Given the description of an element on the screen output the (x, y) to click on. 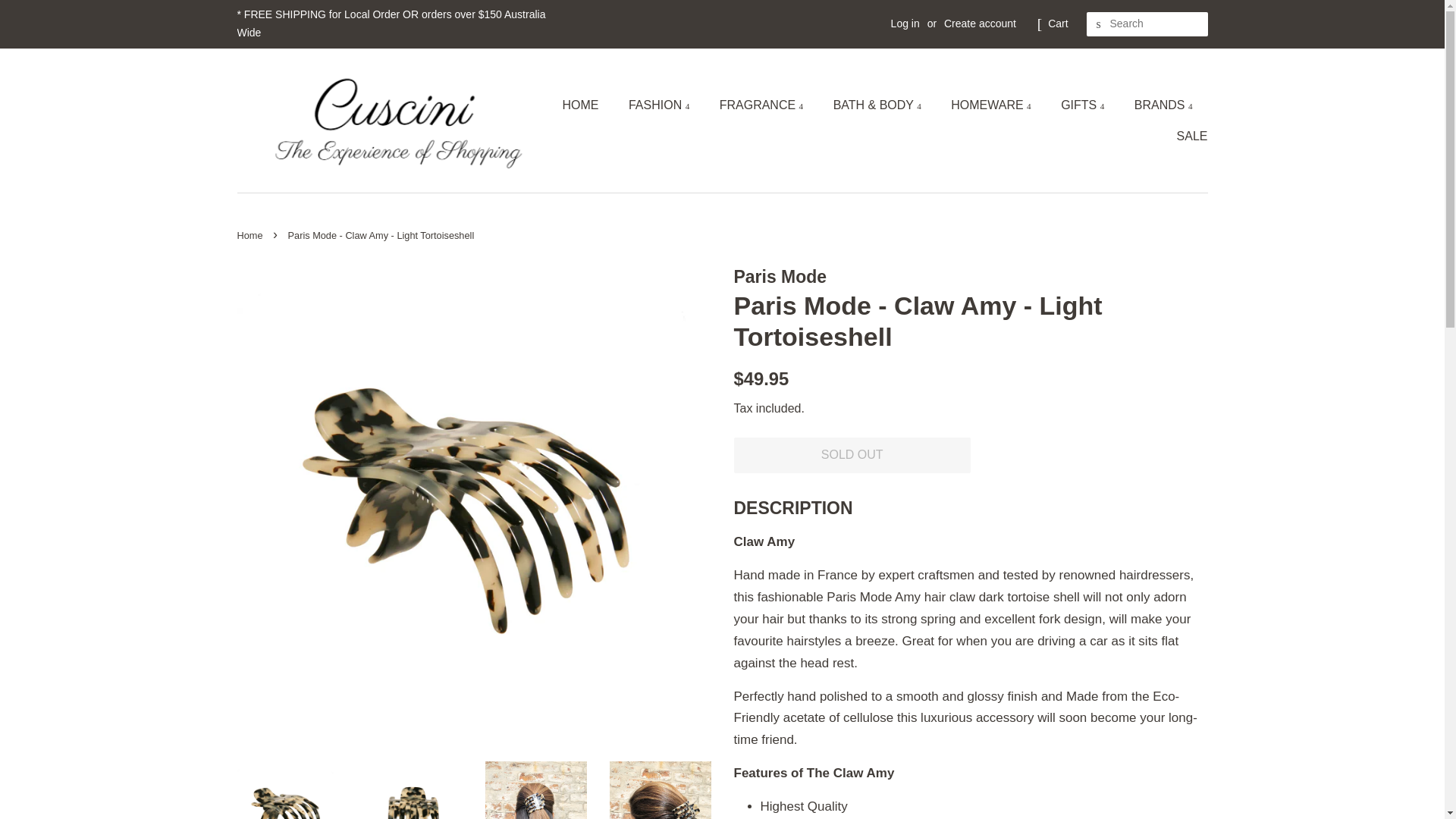
Log in (905, 23)
Cart (1057, 24)
Create account (979, 23)
SEARCH (1097, 24)
Back to the frontpage (250, 235)
